Given the description of an element on the screen output the (x, y) to click on. 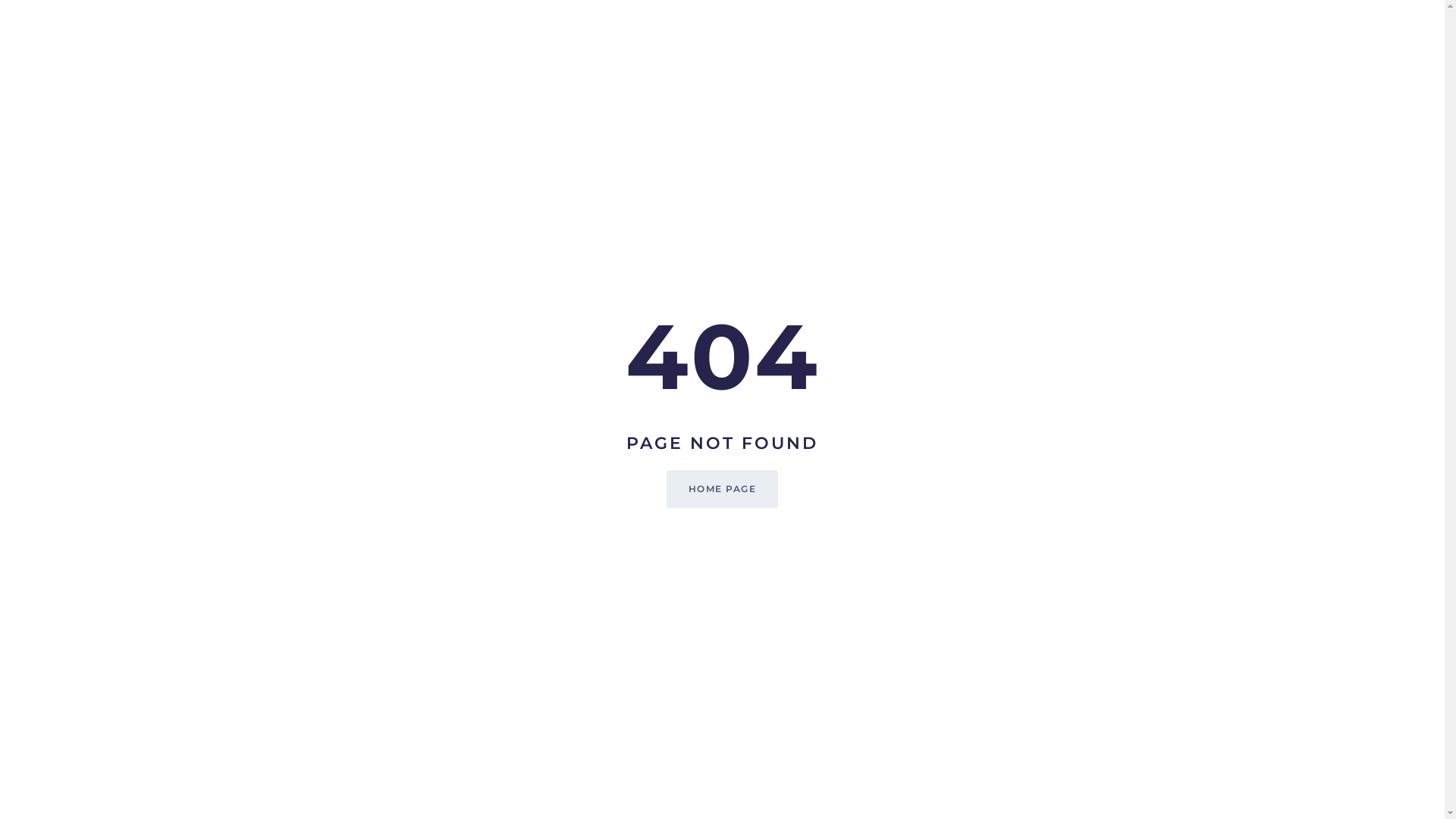
HOME PAGE Element type: text (722, 489)
